Given the description of an element on the screen output the (x, y) to click on. 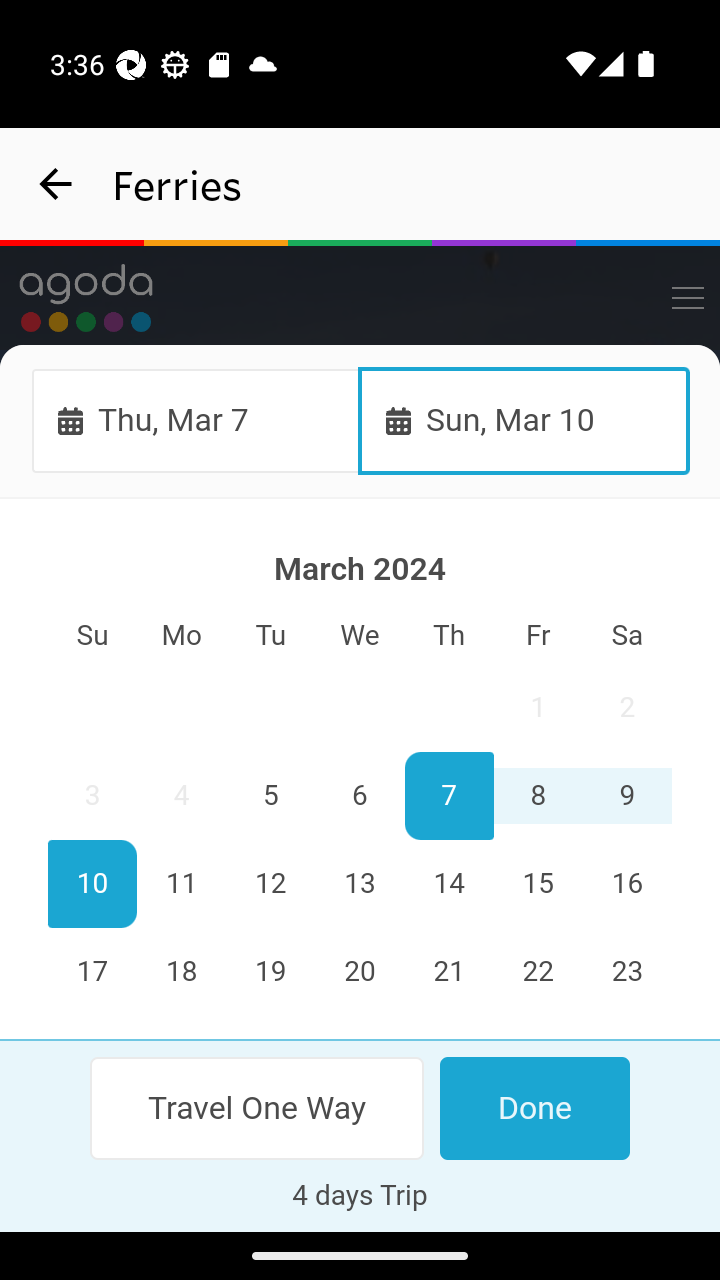
navigation_button (56, 184)
Thu, Mar 7 (195, 420)
Sun, Mar 10 (524, 420)
1 (537, 708)
2 (626, 708)
3 (93, 797)
4 (182, 797)
5 (271, 797)
6 (359, 797)
7 (448, 797)
8 (537, 797)
9 (626, 797)
10 (93, 884)
11 (182, 884)
12 (271, 884)
13 (359, 884)
14 (448, 884)
15 (537, 884)
16 (626, 884)
17 (93, 972)
18 (182, 972)
19 (271, 972)
20 (359, 972)
21 (448, 972)
22 (537, 972)
23 (626, 972)
Travel One Way (258, 1107)
Done (534, 1107)
